Given the description of an element on the screen output the (x, y) to click on. 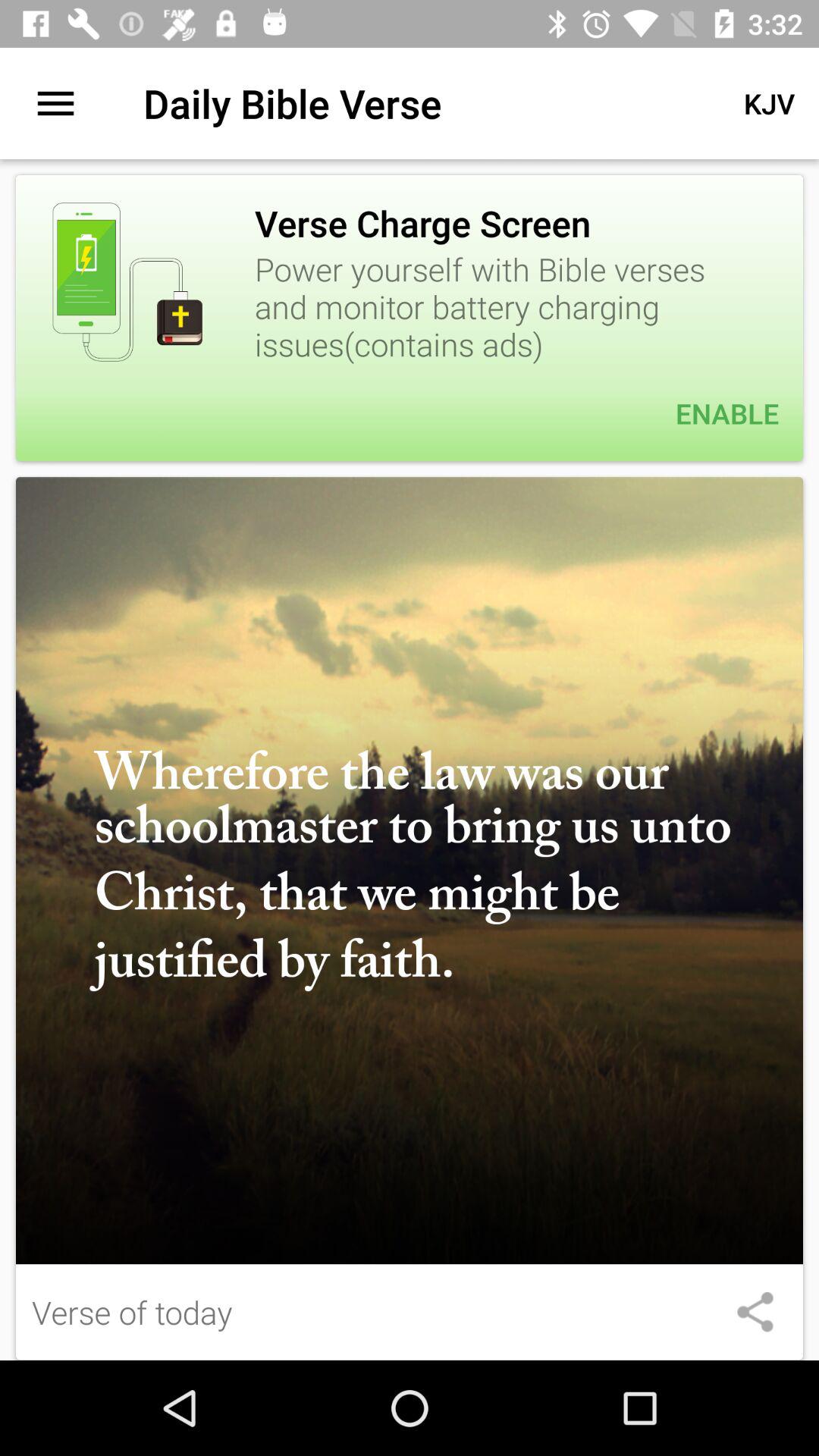
select the kjv (769, 103)
